Given the description of an element on the screen output the (x, y) to click on. 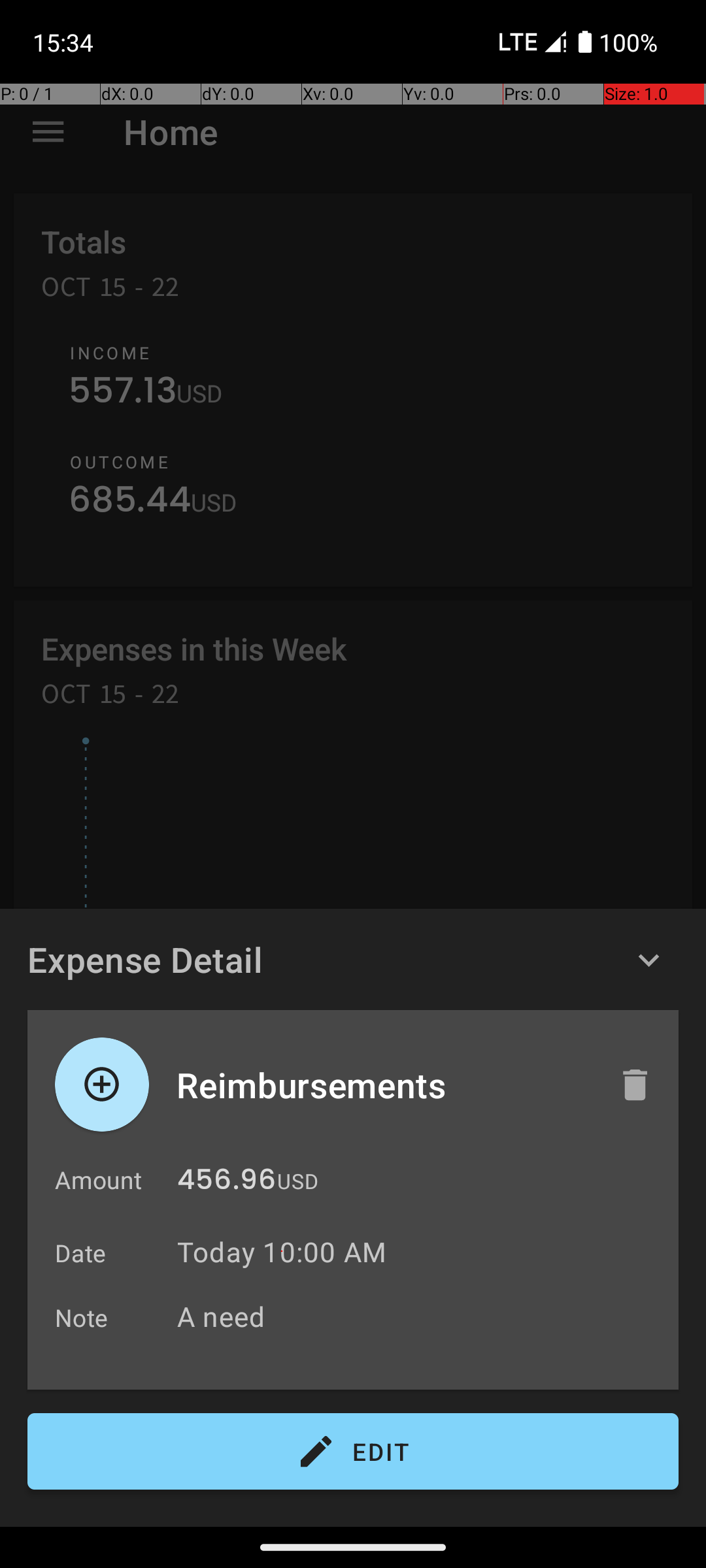
Reimbursements Element type: android.widget.TextView (383, 1084)
456.96 Element type: android.widget.TextView (226, 1182)
Today 10:00 AM Element type: android.widget.TextView (281, 1251)
